Given the description of an element on the screen output the (x, y) to click on. 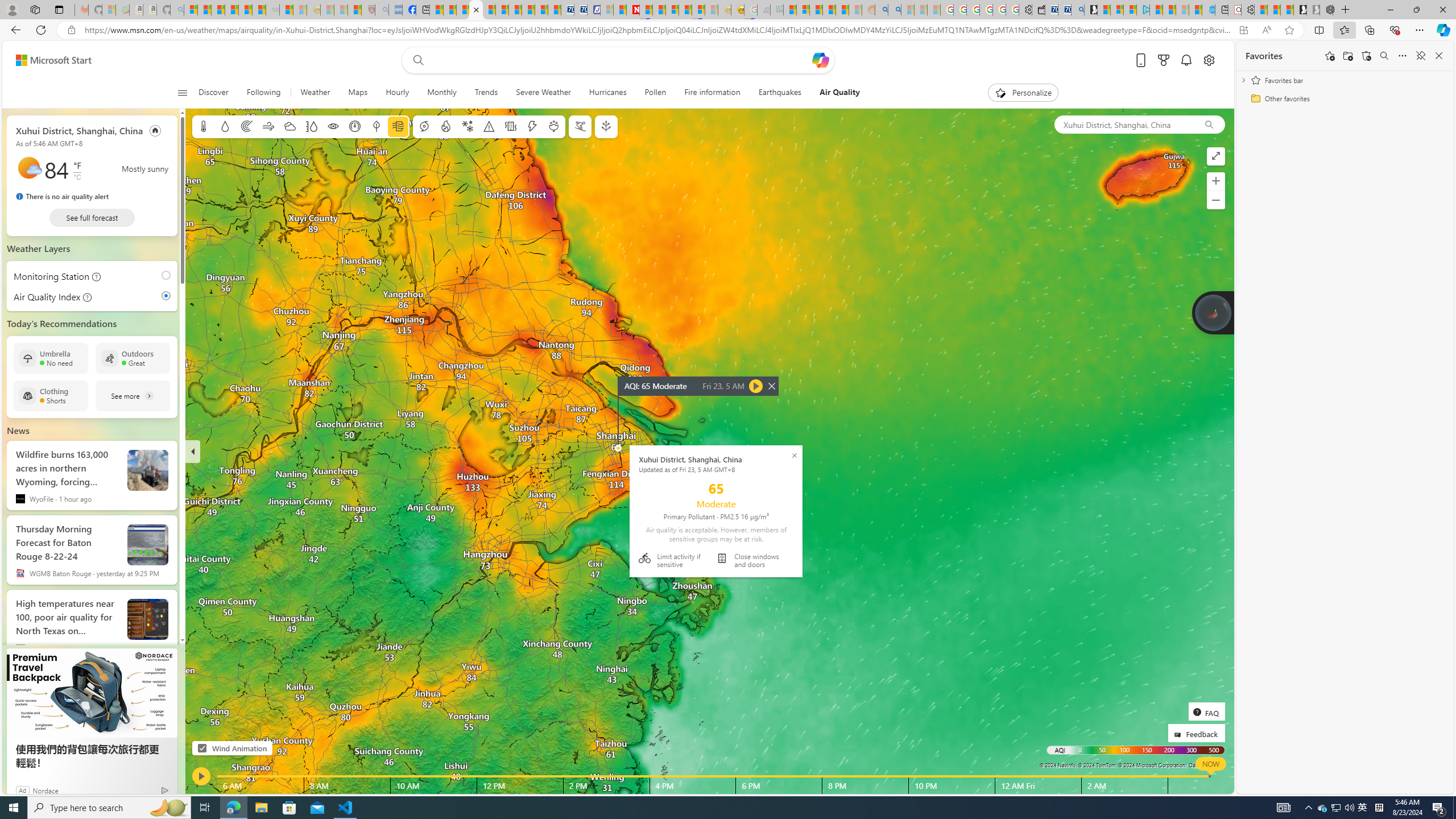
App available. Install Microsoft Start Weather (1243, 29)
Microsoft account | Privacy (1129, 9)
Discover (213, 92)
Search favorites (1383, 55)
Web search (415, 60)
Air Quality (834, 92)
Address and search bar (658, 29)
Robert H. Shmerling, MD - Harvard Health - Sleeping (368, 9)
